Given the description of an element on the screen output the (x, y) to click on. 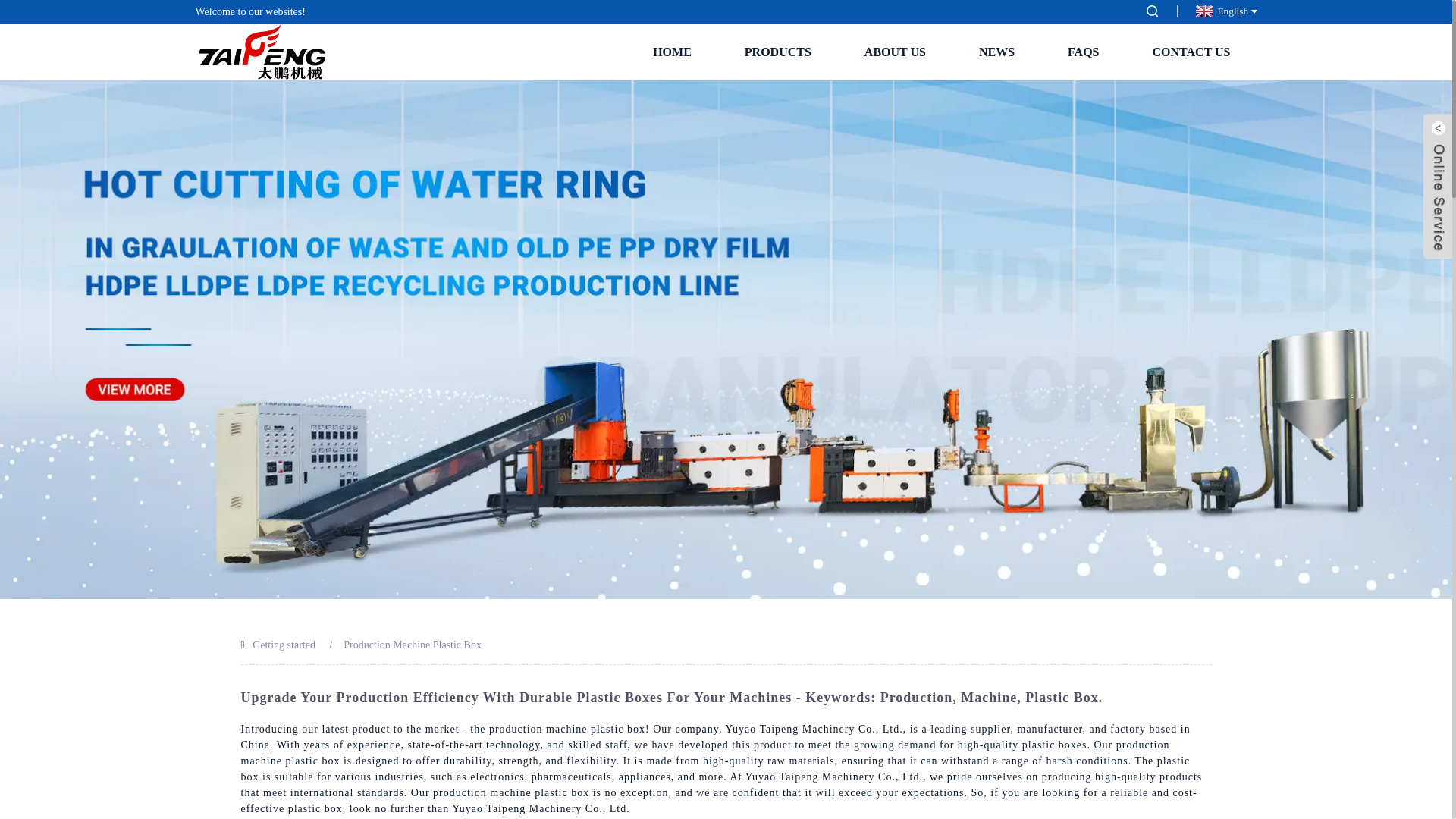
HOME (671, 51)
FAQS (1083, 51)
ABOUT US (895, 51)
NEWS (996, 51)
Getting started (283, 644)
Production Machine Plastic Box (412, 644)
CONTACT US (1191, 51)
English (1224, 10)
PRODUCTS (777, 51)
